Given the description of an element on the screen output the (x, y) to click on. 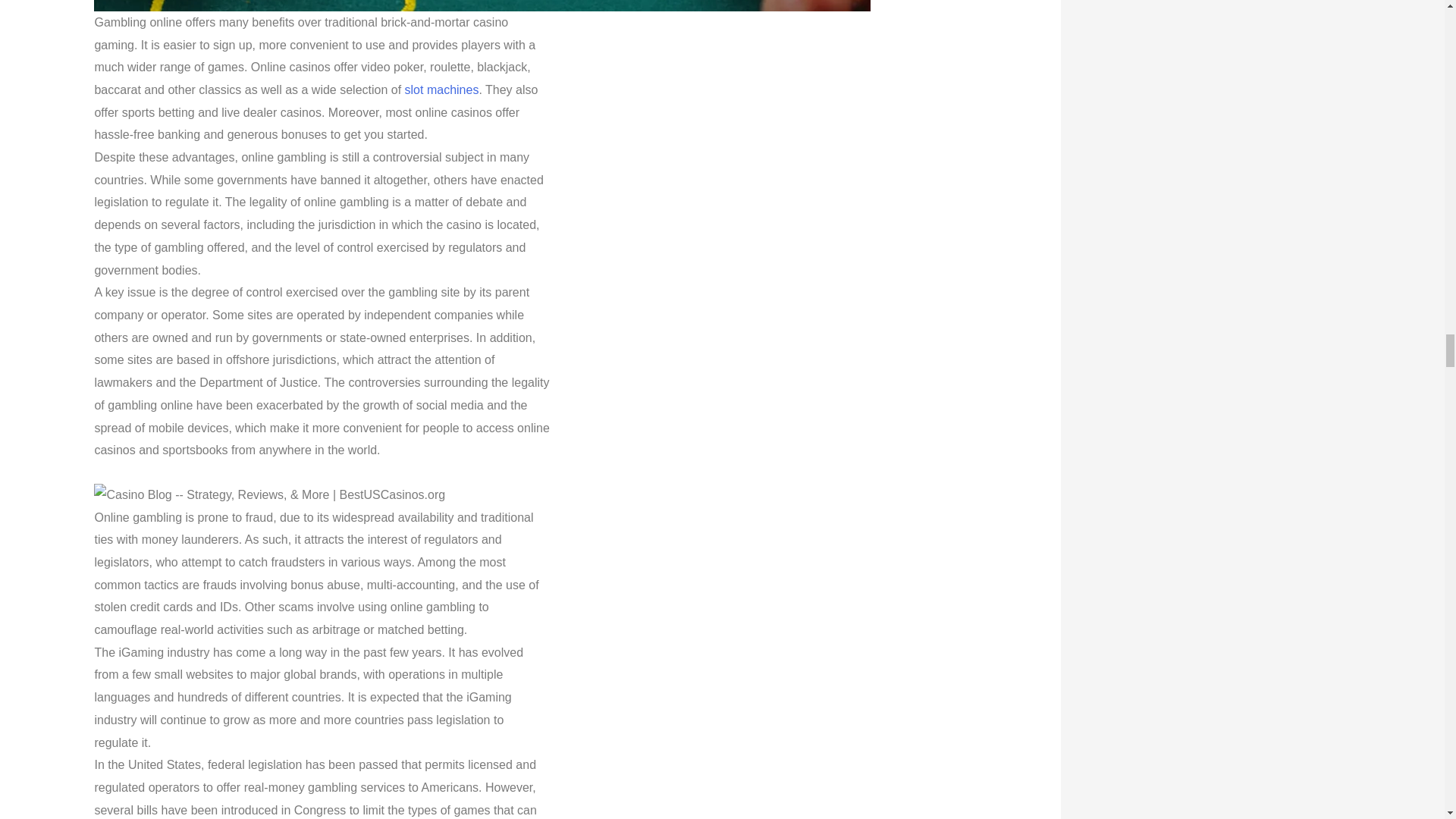
slot machines (441, 89)
